Given the description of an element on the screen output the (x, y) to click on. 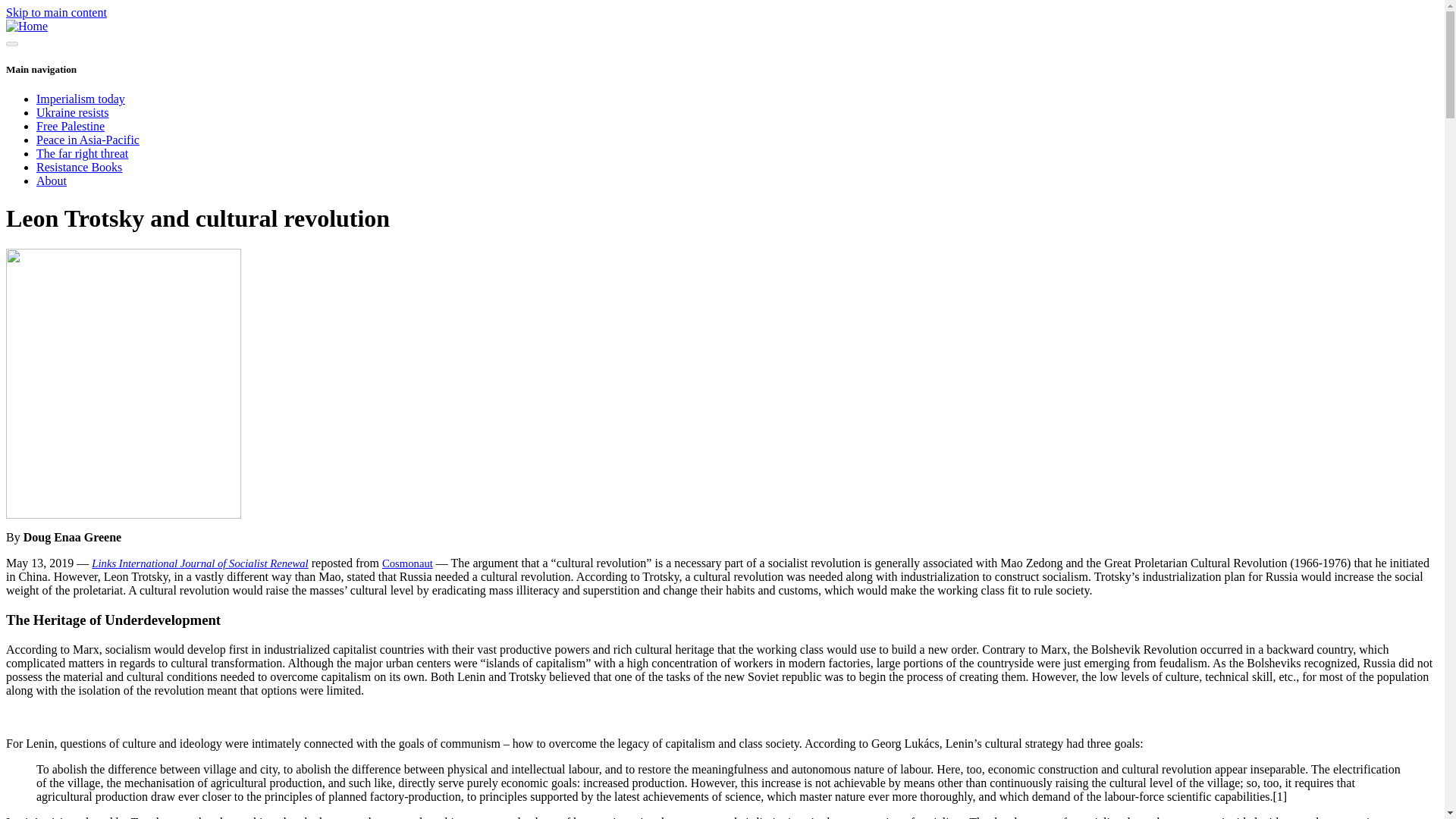
The far right threat (82, 153)
Ukraine resists (72, 112)
About (51, 180)
Cosmonaut (406, 563)
Links International Journal of Socialist Renewal (199, 563)
Understanding Putin's war on Ukraine (72, 112)
About (51, 180)
Peace in Asia-Pacific (87, 139)
Skip to main content (55, 11)
Home (26, 25)
